Given the description of an element on the screen output the (x, y) to click on. 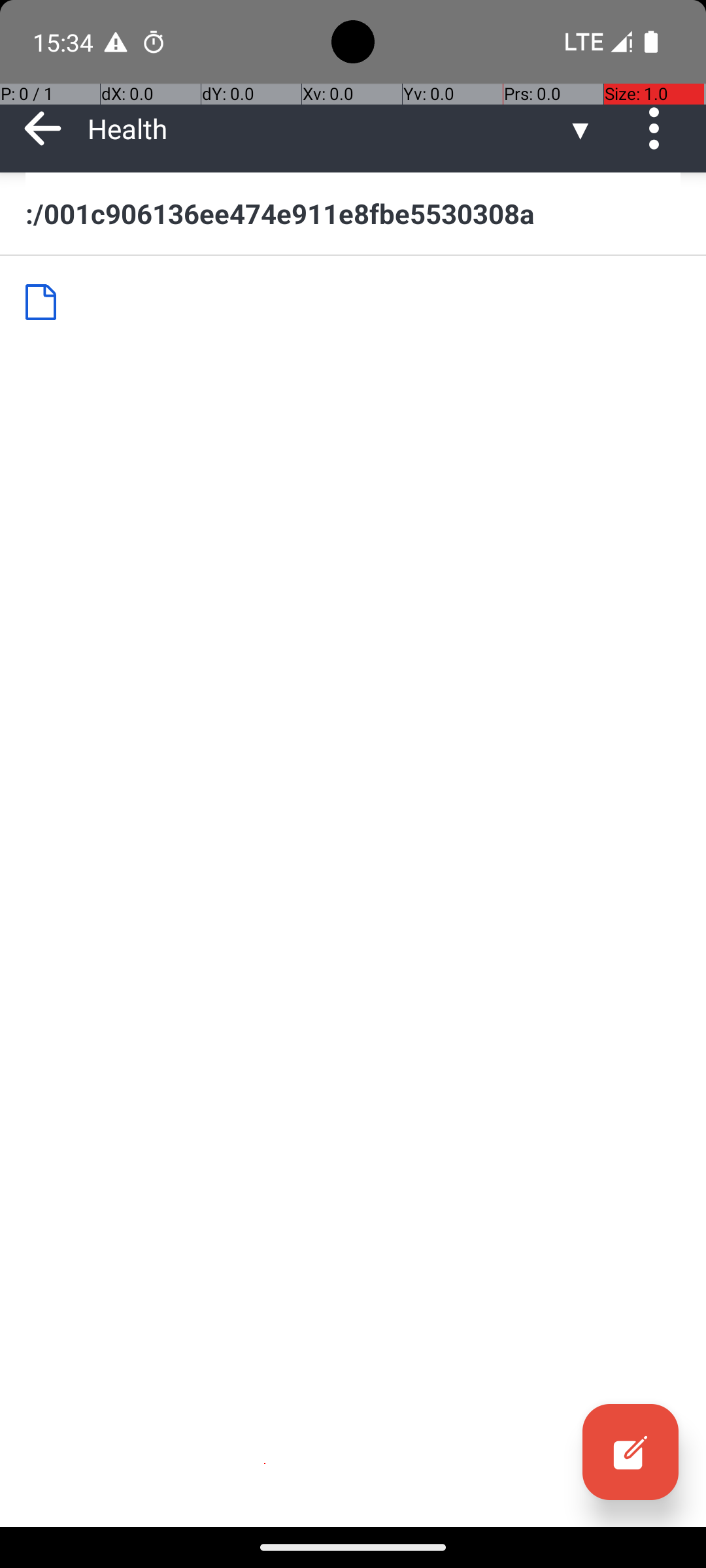
:/001c906136ee474e911e8fbe5530308a Element type: android.widget.EditText (352, 213)
Health Element type: android.widget.TextView (326, 128)
NoteBodyViewer Element type: android.view.View (45, 301)
